Given the description of an element on the screen output the (x, y) to click on. 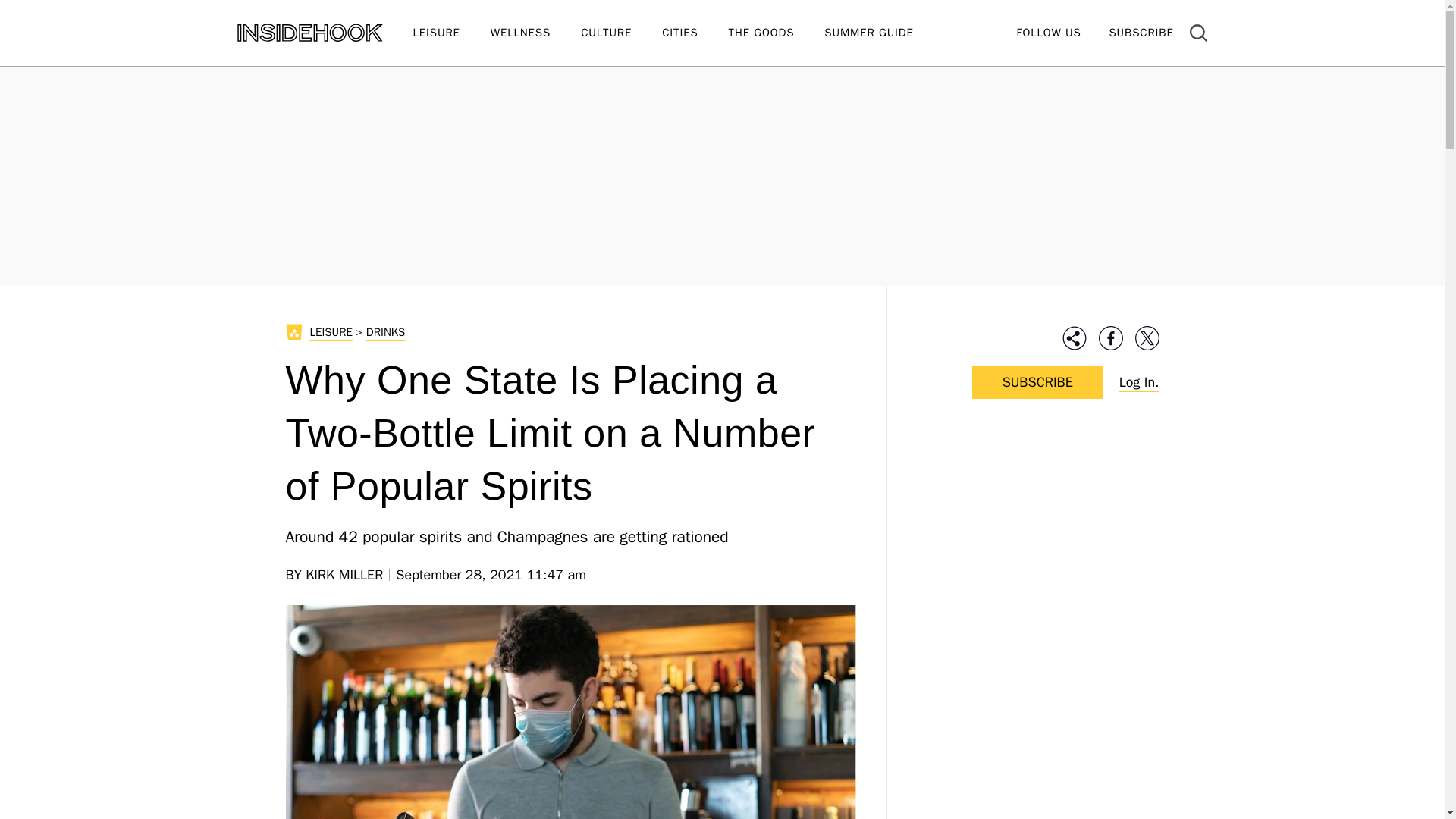
FOLLOW US (1048, 32)
CULTURE (621, 32)
WELLNESS (535, 32)
LEISURE (450, 32)
CITIES (695, 32)
THE GOODS (777, 32)
SUBSCRIBE (1140, 32)
SUMMER GUIDE (883, 32)
